Given the description of an element on the screen output the (x, y) to click on. 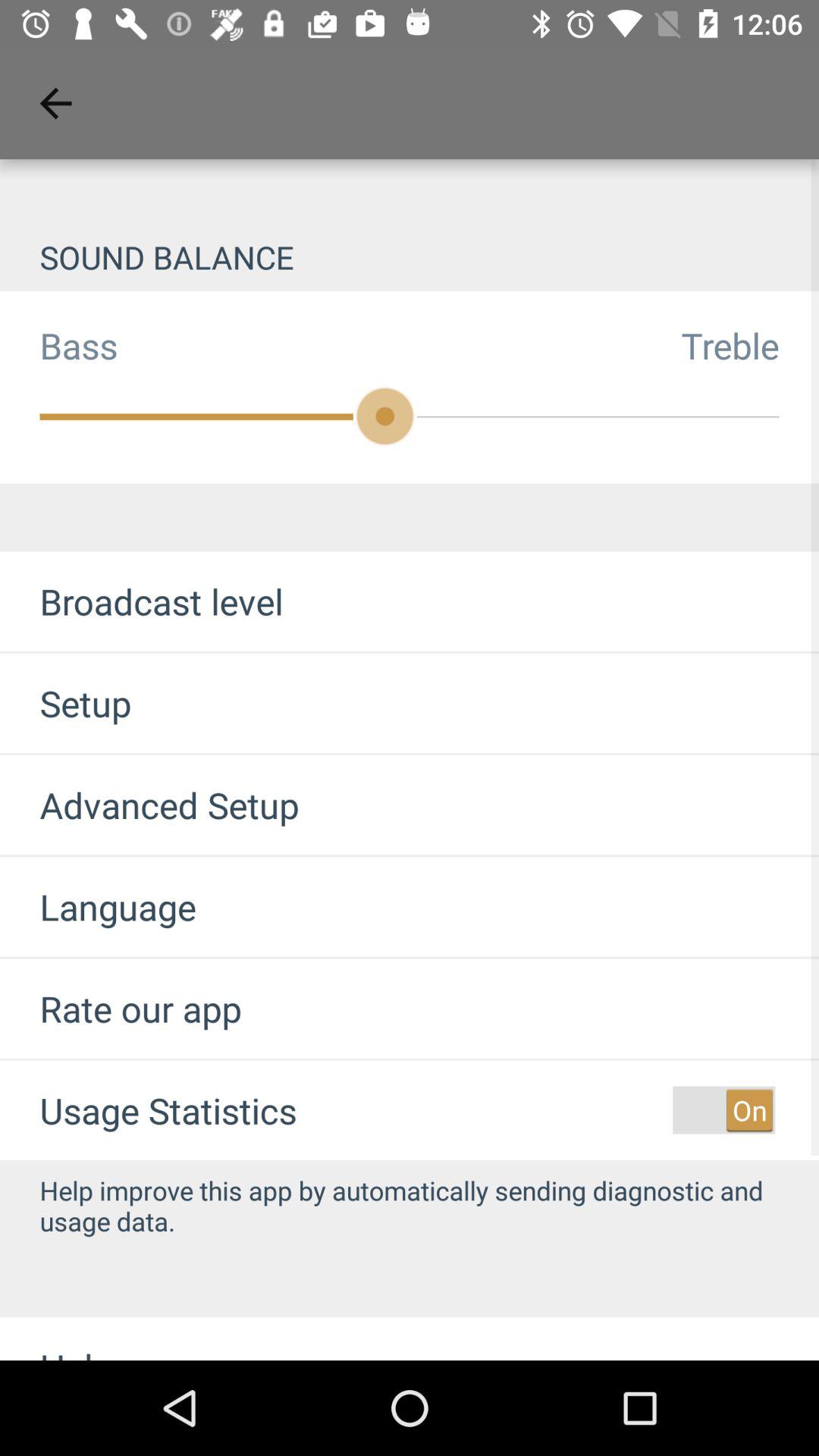
swipe until the sound balance item (409, 256)
